Given the description of an element on the screen output the (x, y) to click on. 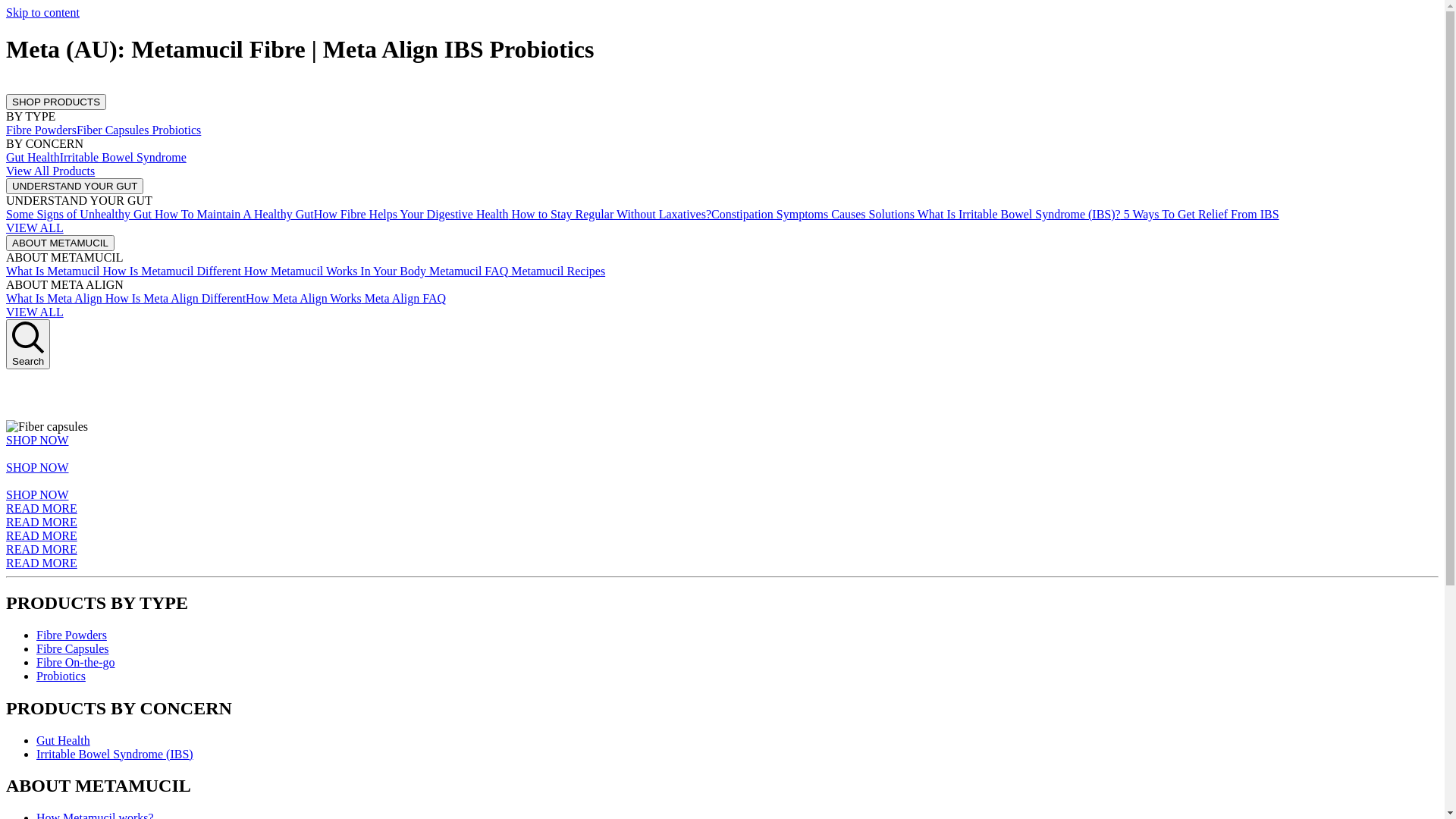
What Is Meta Align Element type: text (54, 297)
Metamucil Recipes Element type: text (556, 270)
SHOP NOW Element type: text (37, 467)
SHOP NOW Element type: text (37, 439)
How Fibre Helps Your Digestive Health Element type: text (410, 213)
How Meta Align Works Element type: text (303, 297)
Fibre Powders Element type: text (71, 634)
How To Maintain A Healthy Gut Element type: text (232, 213)
VIEW ALL Element type: text (34, 311)
READ MORE Element type: text (41, 508)
READ MORE Element type: text (41, 562)
Fibre Capsules Element type: text (72, 648)
How Metamucil Works In Your Body Element type: text (333, 270)
Probiotics Element type: text (174, 129)
Fibre Powders Element type: text (41, 129)
Gut Health Element type: text (32, 156)
Fibre On-the-go Element type: text (75, 661)
VIEW ALL Element type: text (34, 227)
SHOP PRODUCTS Element type: text (56, 101)
5 Ways To Get Relief From IBS Element type: text (1199, 213)
Irritable Bowel Syndrome Element type: text (122, 156)
ABOUT METAMUCIL Element type: text (60, 241)
UNDERSTAND YOUR GUT Element type: text (74, 184)
READ MORE Element type: text (41, 535)
How Is Meta Align Different Element type: text (173, 297)
ABOUT METAMUCIL Element type: text (60, 243)
READ MORE Element type: text (41, 521)
How Is Metamucil Different Element type: text (170, 270)
Metamucil FAQ Element type: text (467, 270)
Some Signs of Unhealthy Gut Element type: text (78, 213)
Constipation Symptoms Causes Solutions Element type: text (812, 213)
READ MORE Element type: text (41, 548)
View All Products Element type: text (50, 170)
How to Stay Regular Without Laxatives? Element type: text (609, 213)
Search Element type: text (28, 344)
Irritable Bowel Syndrome (IBS) Element type: text (114, 753)
Skip to content Element type: text (42, 12)
UNDERSTAND YOUR GUT Element type: text (74, 186)
Probiotics Element type: text (60, 675)
What Is Metamucil Element type: text (53, 270)
Meta Align FAQ Element type: text (403, 297)
SHOP NOW Element type: text (37, 494)
SHOP PRODUCTS Element type: text (56, 100)
What Is Irritable Bowel Syndrome (IBS)? Element type: text (1017, 213)
Fiber Capsules Element type: text (112, 129)
Gut Health Element type: text (63, 740)
